Given the description of an element on the screen output the (x, y) to click on. 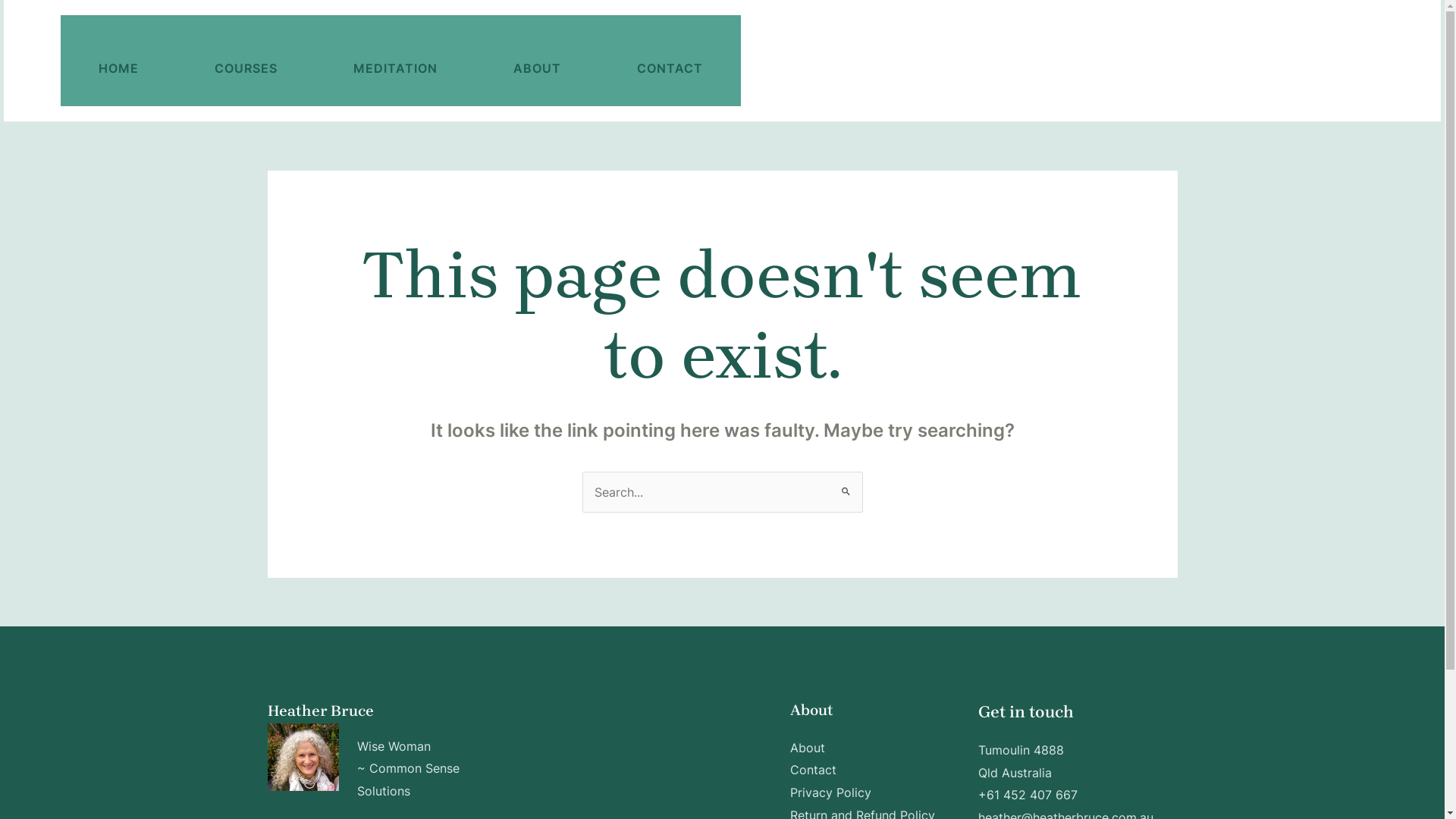
COURSES Element type: text (245, 60)
HOME Element type: text (118, 60)
Contact Element type: text (813, 769)
CONTACT Element type: text (669, 60)
Search Element type: text (845, 485)
ABOUT Element type: text (537, 60)
MEDITATION Element type: text (395, 60)
Privacy Policy Element type: text (830, 792)
About Element type: text (807, 747)
